Given the description of an element on the screen output the (x, y) to click on. 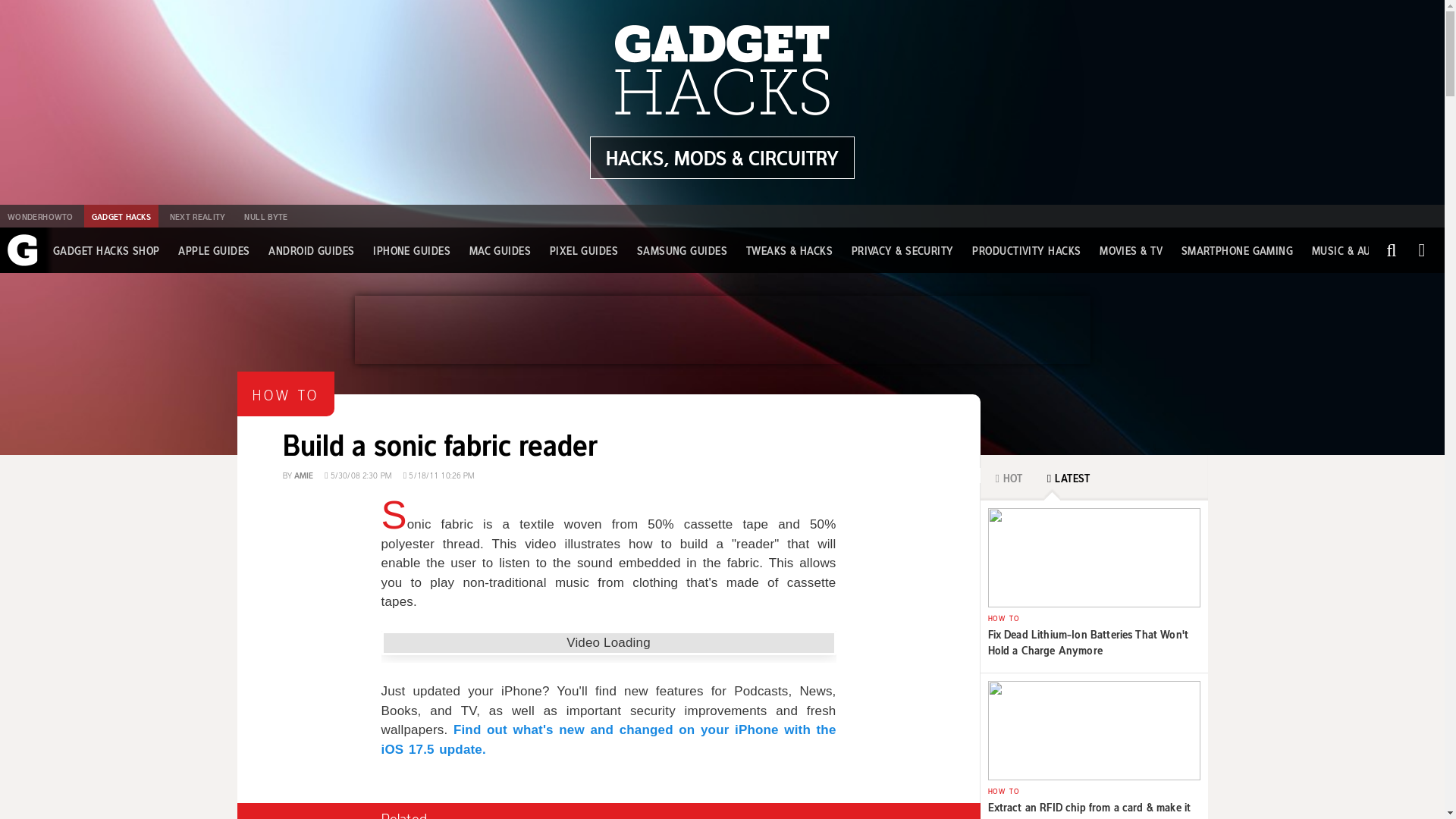
SMARTPHONE GAMING (1237, 249)
GADGET HACKS (121, 215)
PRODUCTIVITY HACKS (1026, 249)
SAMSUNG GUIDES (681, 249)
ANDROID GUIDES (608, 428)
join others in hacking, modding, and circuit design (310, 249)
PIXEL GUIDES (721, 157)
WONDERHOWTO (583, 249)
MAC GUIDES (40, 215)
AMIE (499, 249)
NEXT REALITY (303, 473)
NULL BYTE (196, 215)
GADGET HACKS SHOP (265, 215)
